Given the description of an element on the screen output the (x, y) to click on. 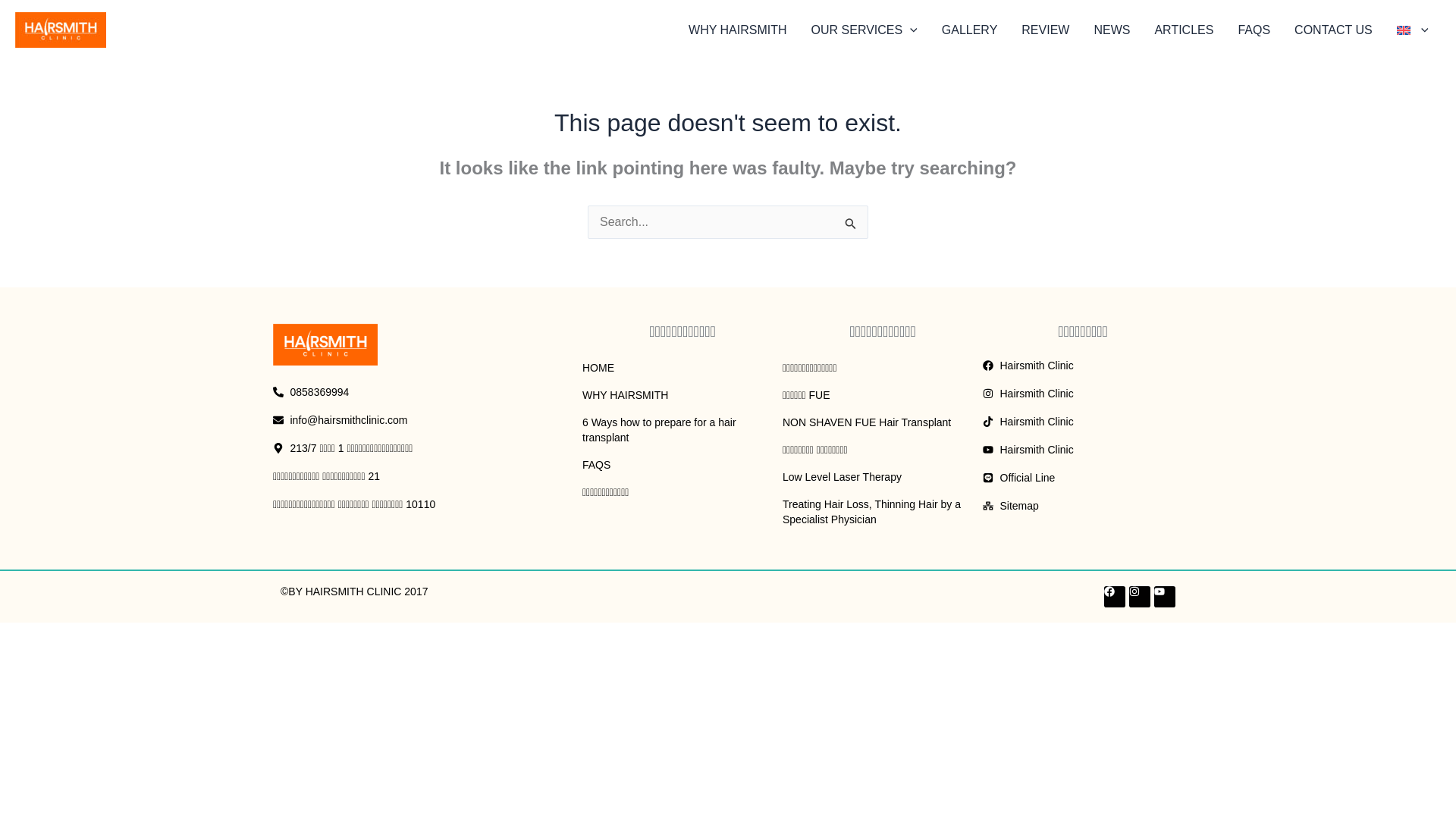
GALLERY (970, 30)
NEWS (1111, 30)
FAQS (1253, 30)
REVIEW (1045, 30)
OUR SERVICES (864, 30)
FAQS (682, 464)
0858369994 (391, 391)
WHY HAIRSMITH (737, 30)
6 Ways how to prepare for a hair transplant (682, 429)
ARTICLES (1183, 30)
